Given the description of an element on the screen output the (x, y) to click on. 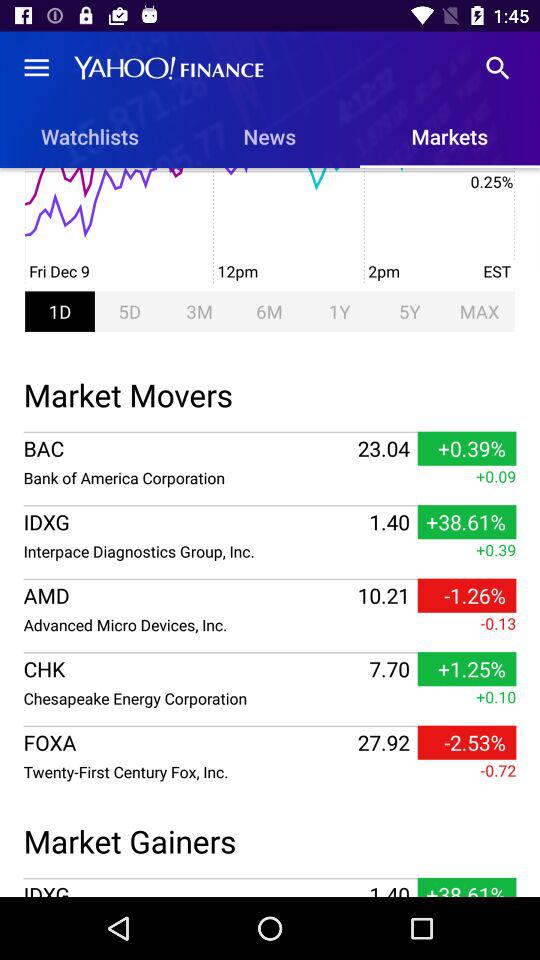
flip until -2.53% icon (466, 742)
